Given the description of an element on the screen output the (x, y) to click on. 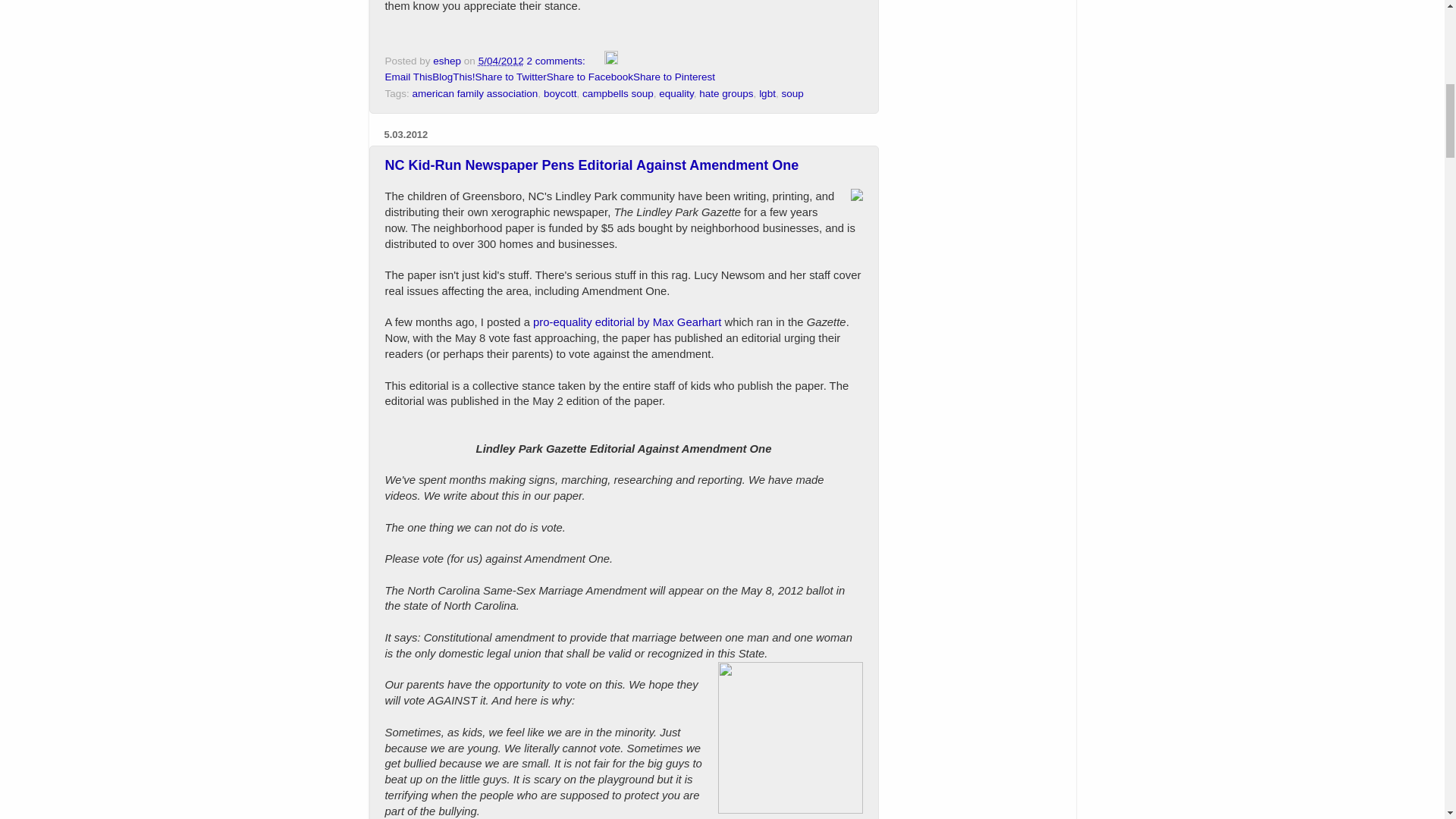
eshep (448, 60)
american family association (475, 93)
pro-equality editorial by Max Gearhart (626, 322)
hate groups (725, 93)
campbells soup (617, 93)
equality (676, 93)
boycott (559, 93)
Email Post (596, 60)
2 comments: (556, 60)
Edit Post (610, 60)
soup (791, 93)
Share to Facebook (590, 76)
BlogThis! (453, 76)
Email This (408, 76)
permanent link (501, 60)
